Given the description of an element on the screen output the (x, y) to click on. 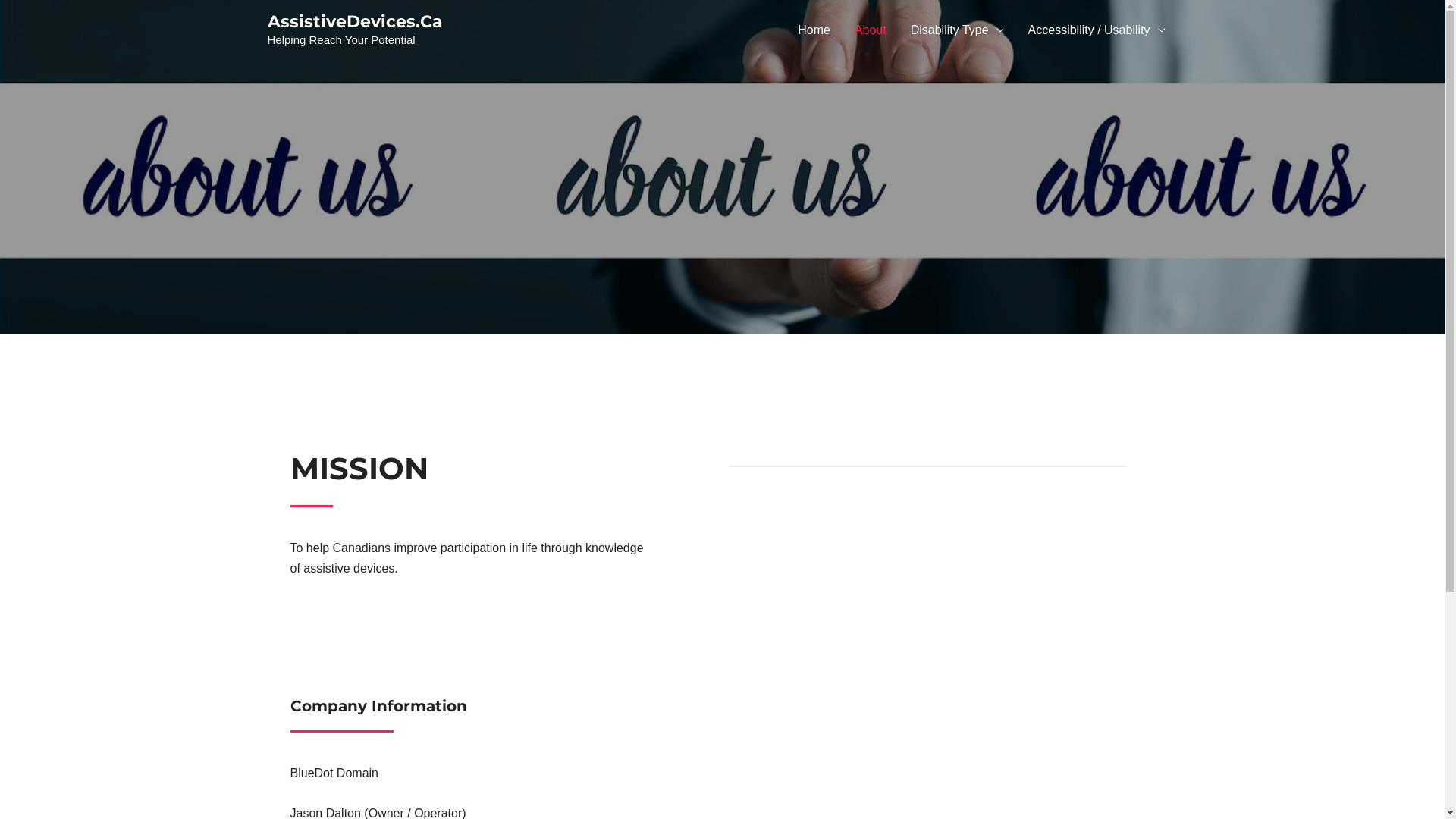
About Element type: text (870, 29)
AssistiveDevices.Ca Element type: text (354, 21)
Home Element type: text (813, 29)
Disability Type Element type: text (957, 29)
Accessibility / Usability Element type: text (1096, 29)
